Given the description of an element on the screen output the (x, y) to click on. 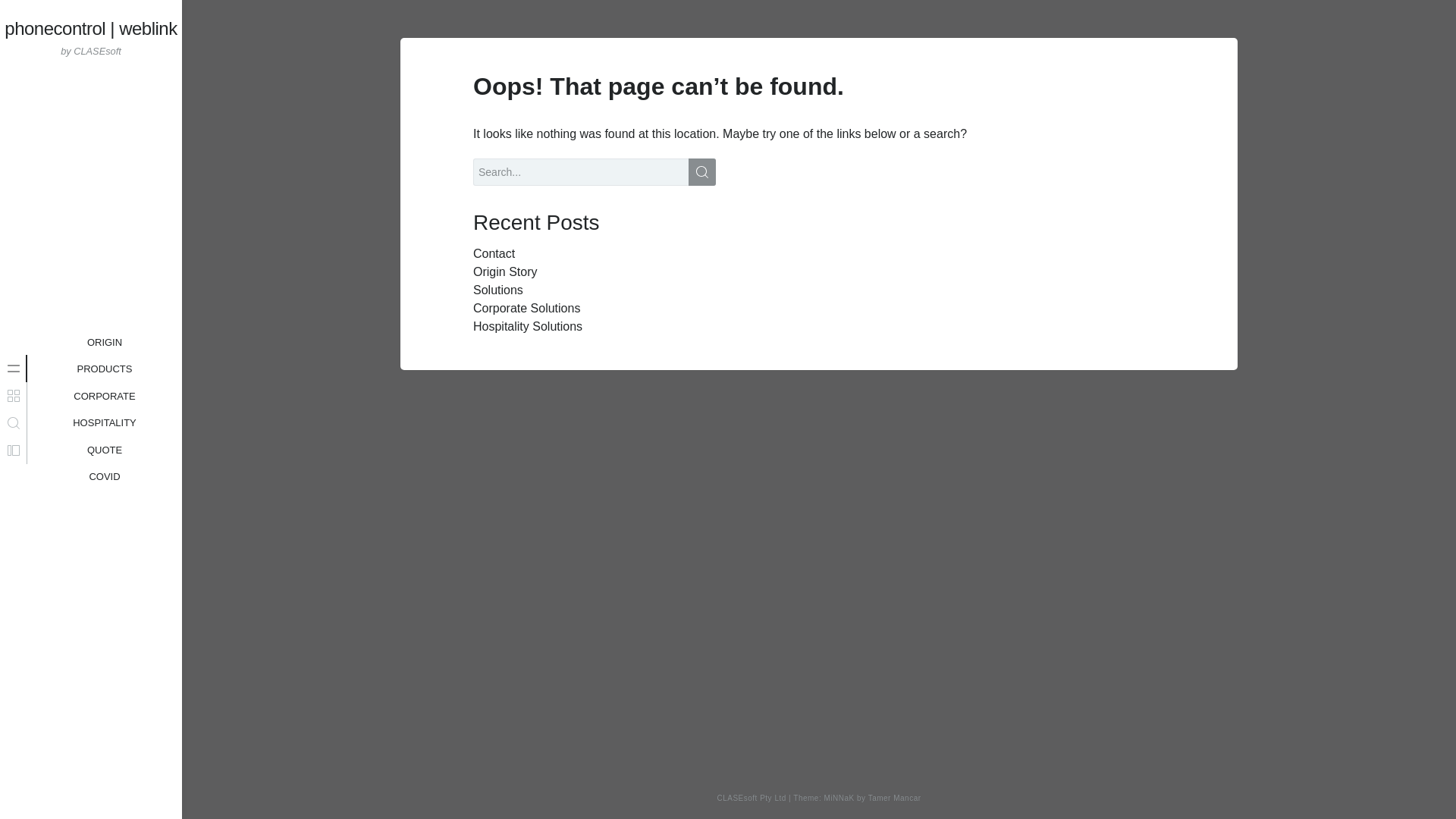
Origin Story (505, 271)
PRODUCTS (104, 369)
ORIGIN (104, 342)
Contact (494, 253)
Tamer Mancar (894, 797)
Solutions (497, 289)
Search for: (594, 171)
HOSPITALITY (104, 423)
Hospitality Solutions (104, 409)
CORPORATE (527, 326)
QUOTE (103, 396)
Corporate Solutions (104, 450)
COVID (526, 308)
